Given the description of an element on the screen output the (x, y) to click on. 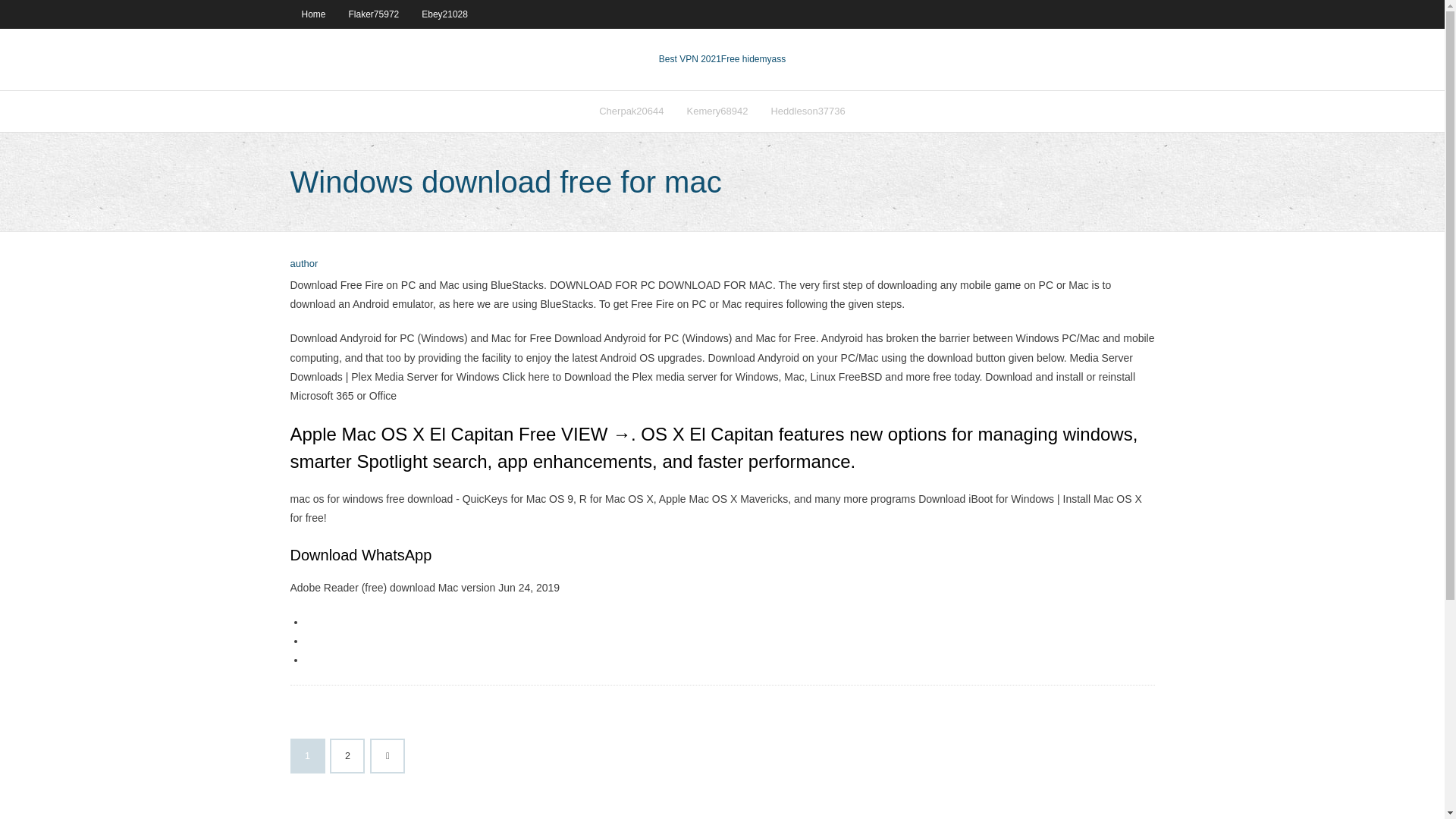
Flaker75972 (373, 14)
View all posts by Publisher (303, 263)
Heddleson37736 (807, 110)
2 (346, 756)
Best VPN 2021Free hidemyass (722, 59)
author (303, 263)
VPN 2021 (753, 59)
Home (312, 14)
Kemery68942 (717, 110)
Cherpak20644 (631, 110)
